Given the description of an element on the screen output the (x, y) to click on. 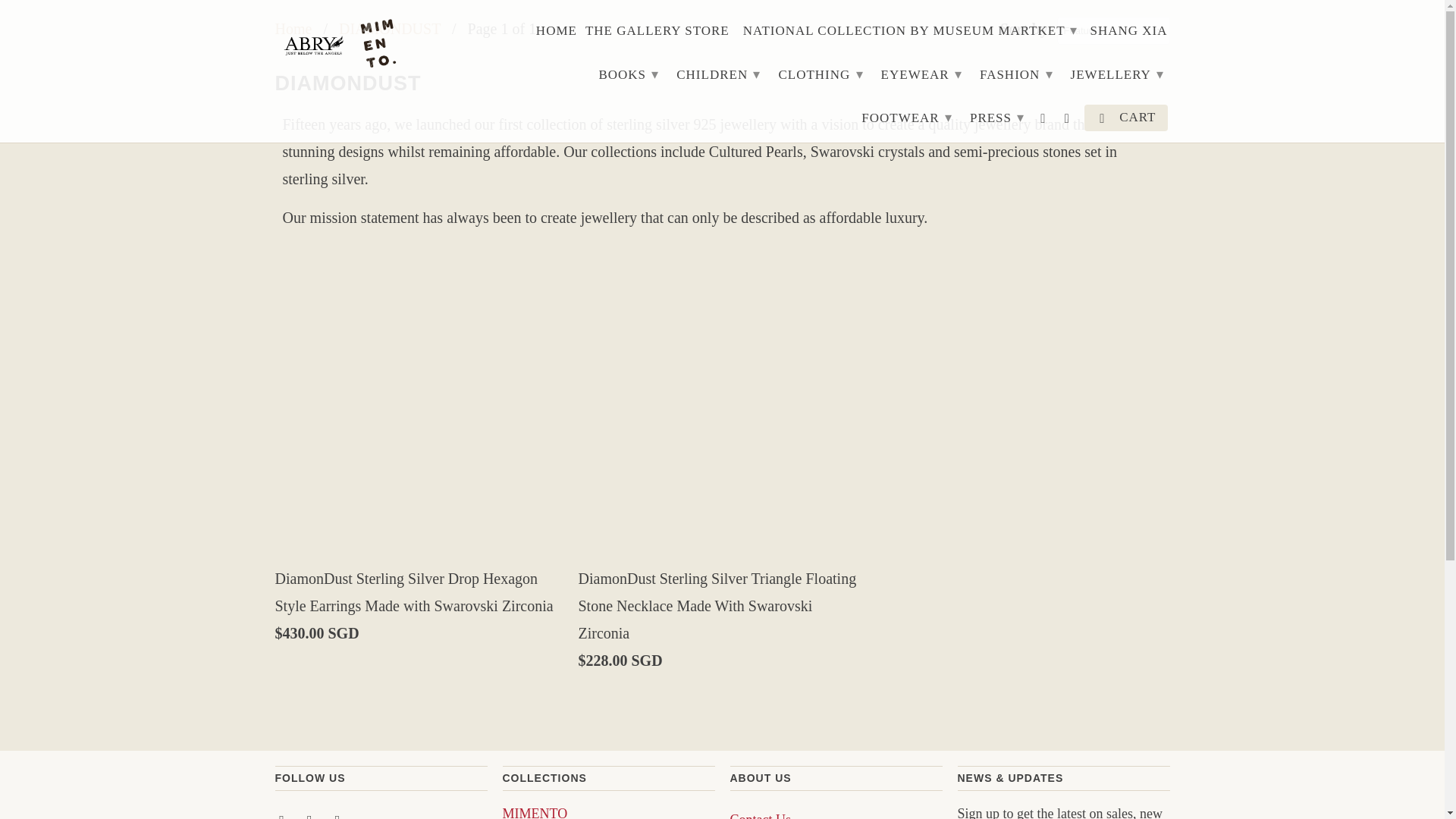
DIAMONDUST (390, 28)
About MIMENTO (534, 812)
ABRY on Instagram (310, 815)
ABRY on Facebook (283, 815)
ABRY (293, 28)
Email ABRY (338, 815)
ABRY (342, 45)
